Given the description of an element on the screen output the (x, y) to click on. 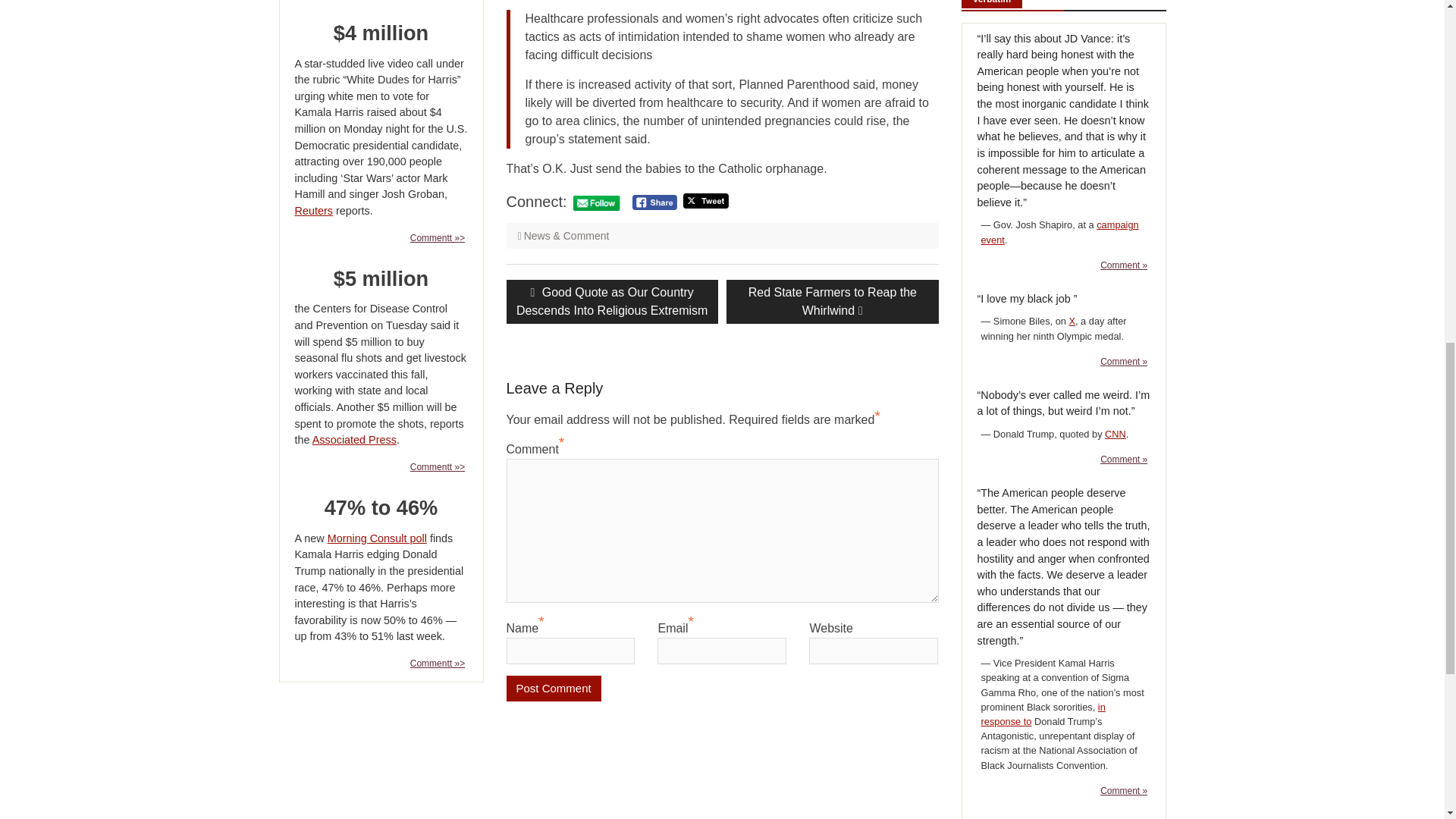
Facebook Share (831, 300)
Post Comment (654, 201)
Post Comment (553, 687)
Tweet (553, 687)
Permanent Link to This Weirdo Is Weirdly Weird (705, 200)
Permanent Link to Even Simone Biles Is Dumping on Trump (1123, 459)
